Given the description of an element on the screen output the (x, y) to click on. 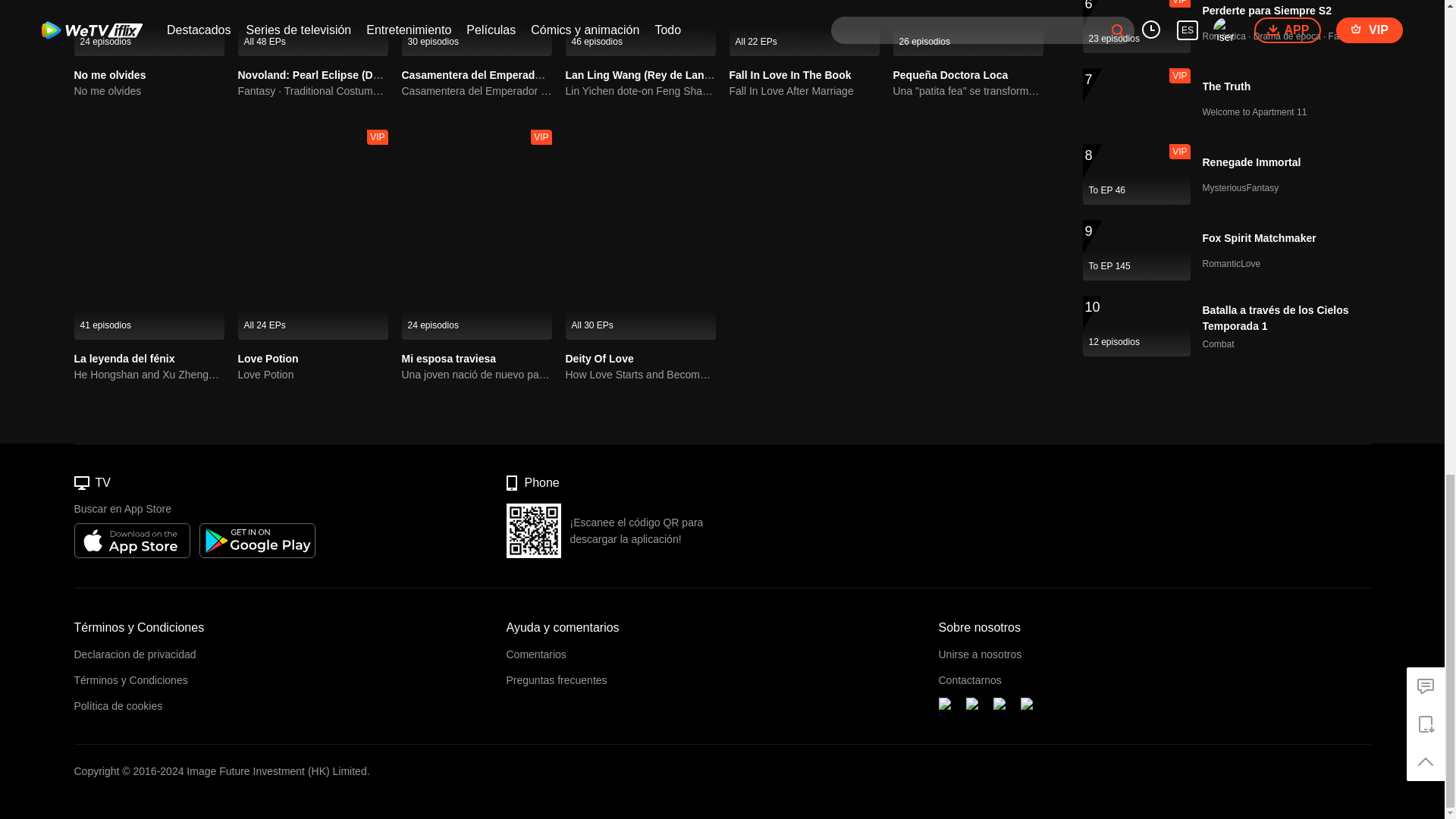
No me olvides (110, 74)
Fall In Love After Marriage (804, 91)
No me olvides (149, 91)
Casamentera del Emperador Demonio (476, 91)
Casamentera del Emperador Demonio (497, 74)
Fall In Love In The Book (804, 28)
Fall In Love In The Book (790, 74)
No me olvides (149, 28)
Lin Yichen dote-on Feng Shaofeng (641, 91)
Casamentera del Emperador Demonio (476, 28)
No me olvides (110, 74)
